Given the description of an element on the screen output the (x, y) to click on. 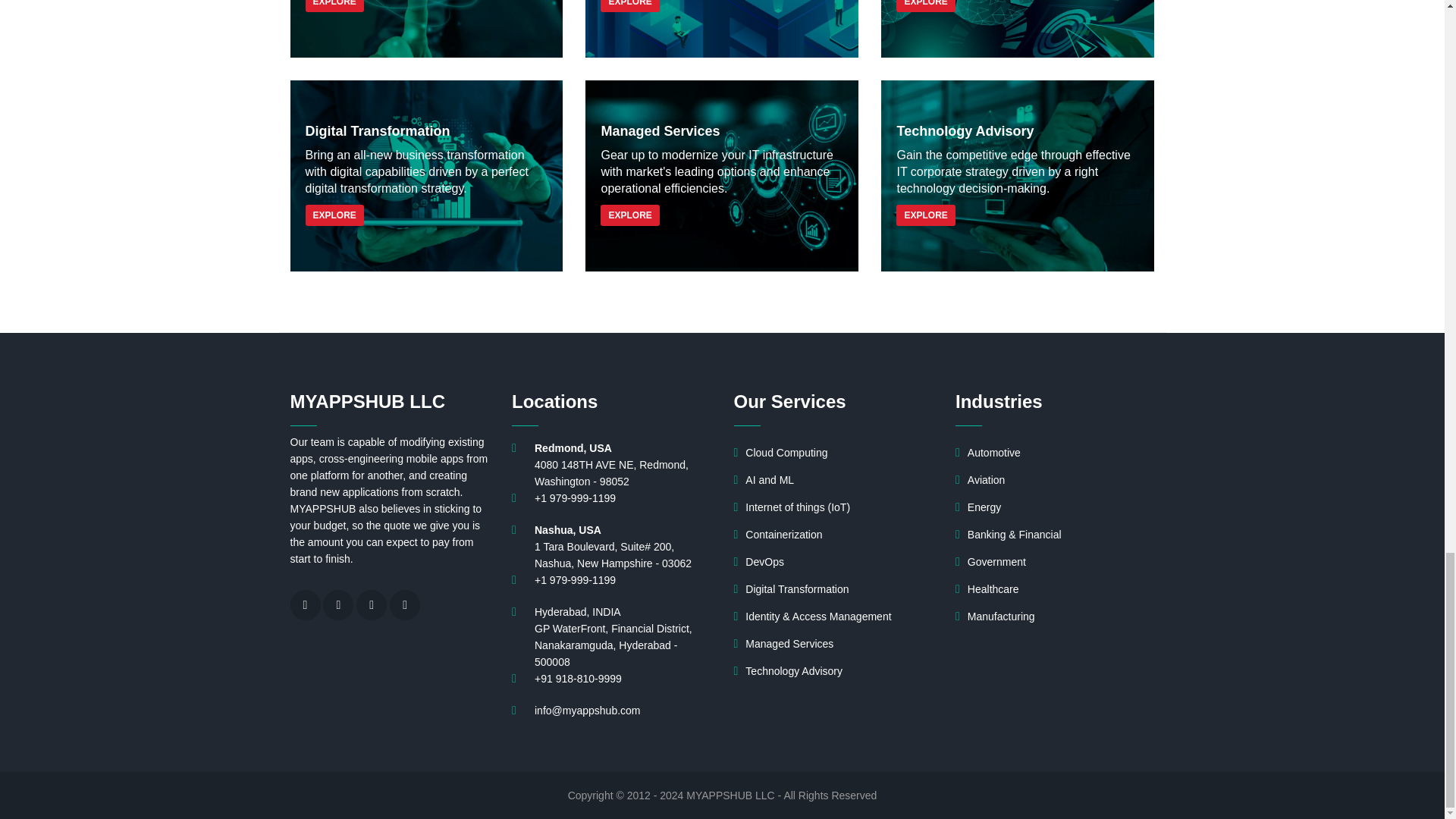
EXPLORE (333, 6)
Cloud Computing (425, 28)
EXPLORE (925, 6)
EXPLORE (629, 6)
DevOps (1017, 28)
Containerization (722, 28)
